Given the description of an element on the screen output the (x, y) to click on. 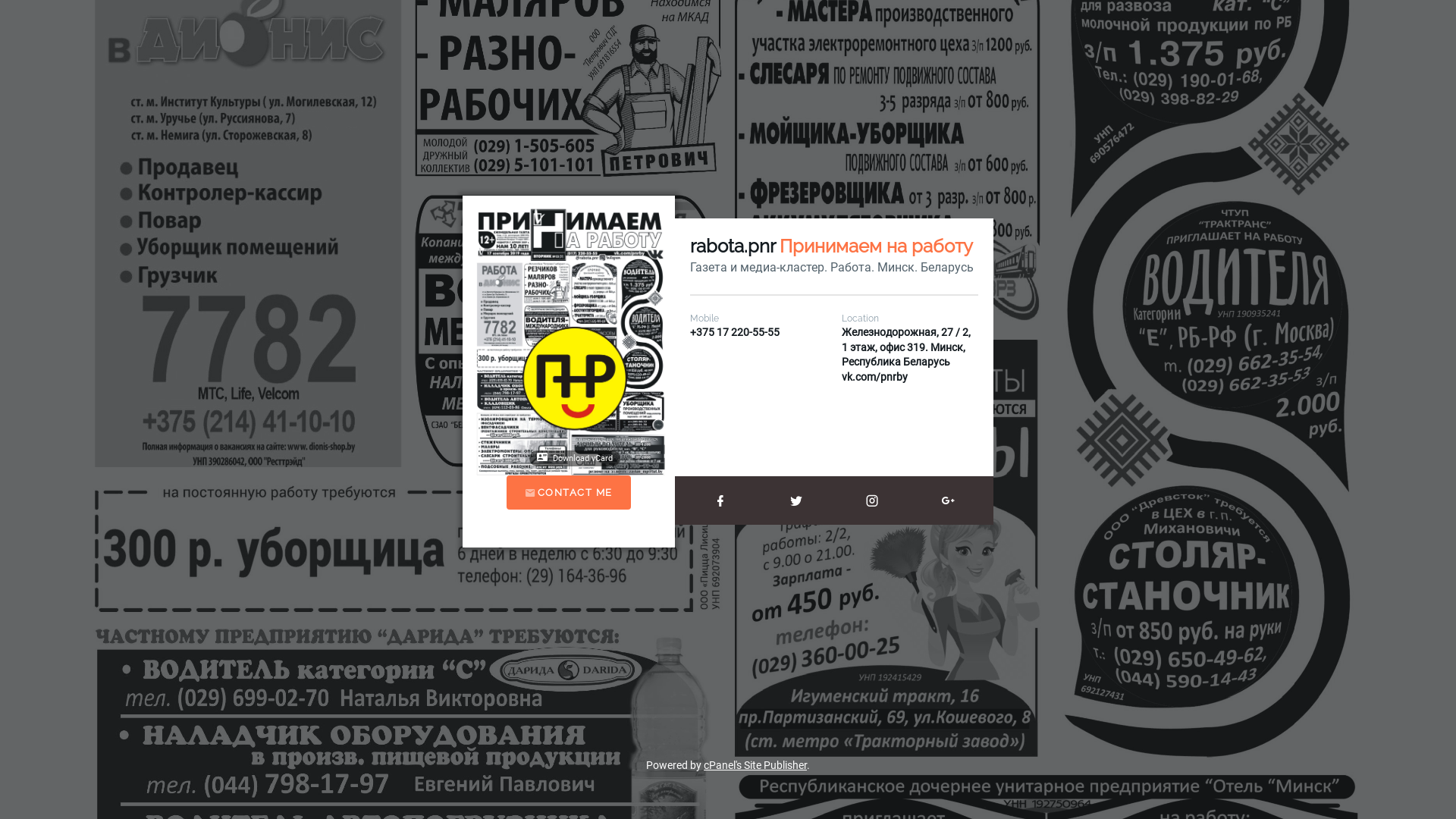
cPanel's Site Publisher Element type: text (754, 765)
